Given the description of an element on the screen output the (x, y) to click on. 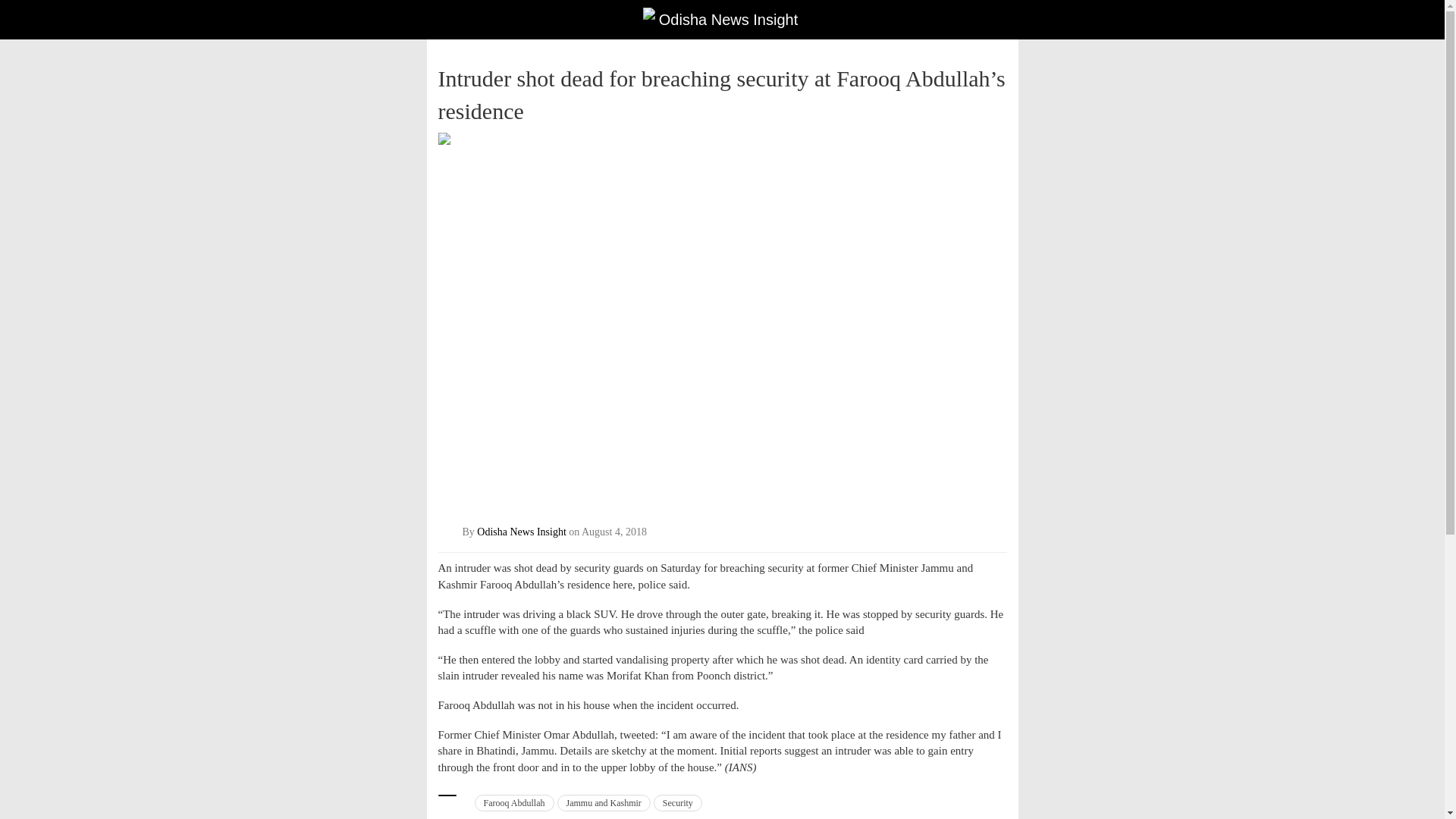
Security (677, 802)
Jammu and Kashmir (602, 802)
Farooq Abdullah (514, 802)
Odisha News Insight (521, 532)
